Given the description of an element on the screen output the (x, y) to click on. 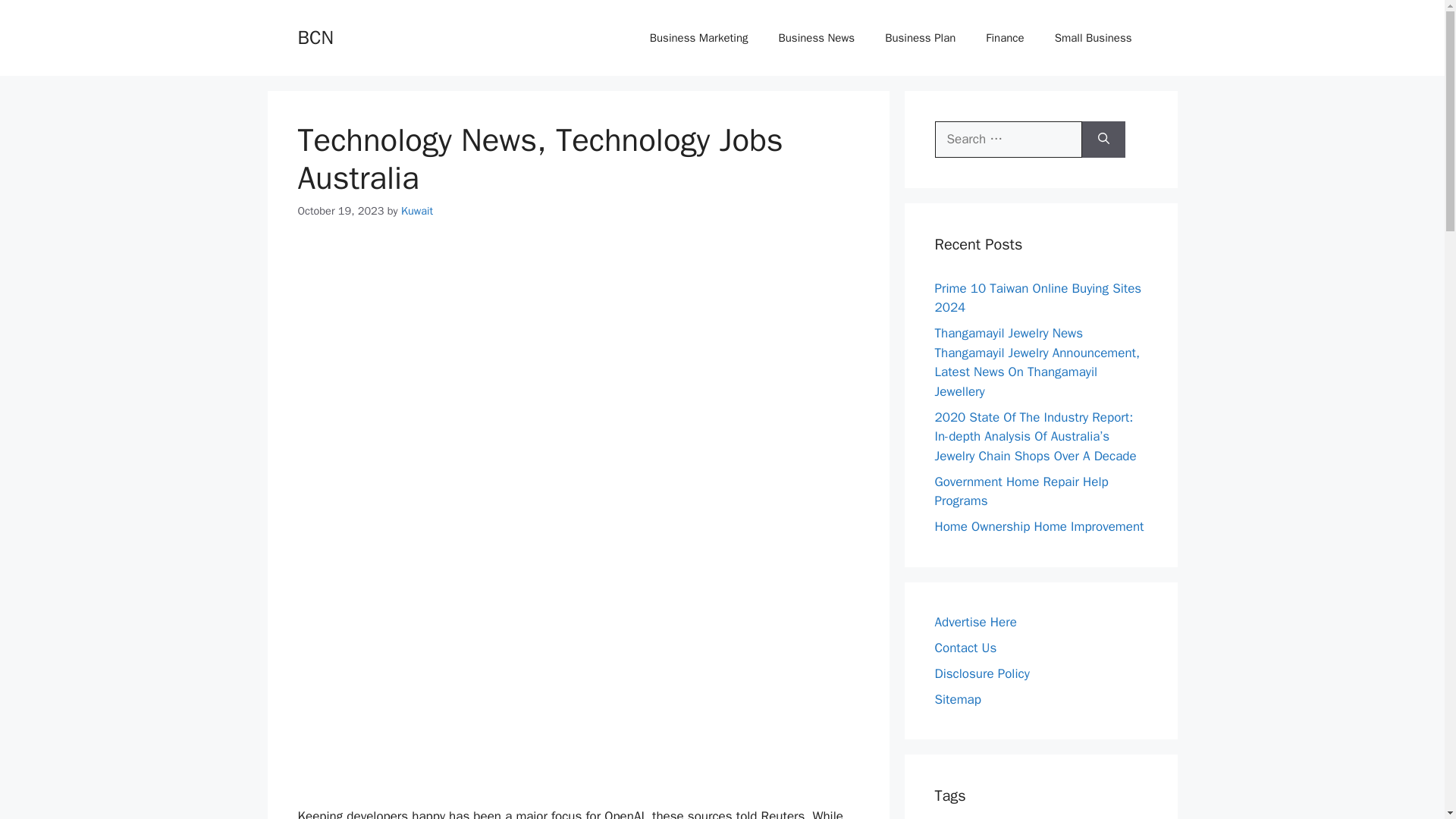
Business News (815, 37)
Disclosure Policy (981, 673)
View all posts by Kuwait (416, 210)
BCN (315, 37)
Home Ownership Home Improvement (1038, 526)
Contact Us (964, 647)
Business Marketing (698, 37)
Search for: (1007, 139)
Advertise Here (975, 621)
